Given the description of an element on the screen output the (x, y) to click on. 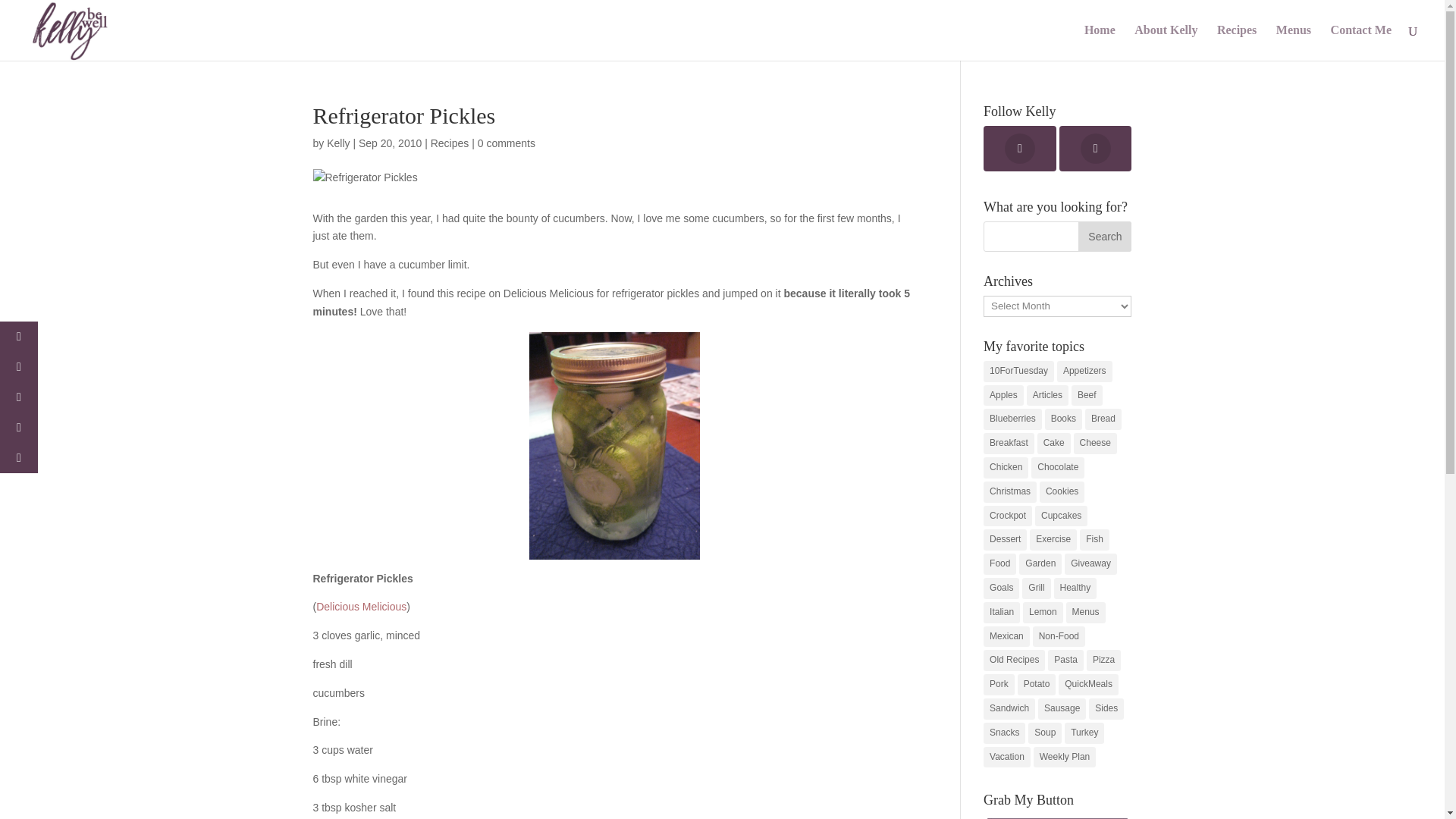
Chicken (1005, 467)
Recipes (449, 143)
Search (1104, 236)
Cupcakes (1061, 516)
Posts by Kelly (337, 143)
Fish (1094, 539)
Cake (1053, 443)
Chocolate (1057, 467)
Contact Me (1360, 42)
Cheese (1095, 443)
